Given the description of an element on the screen output the (x, y) to click on. 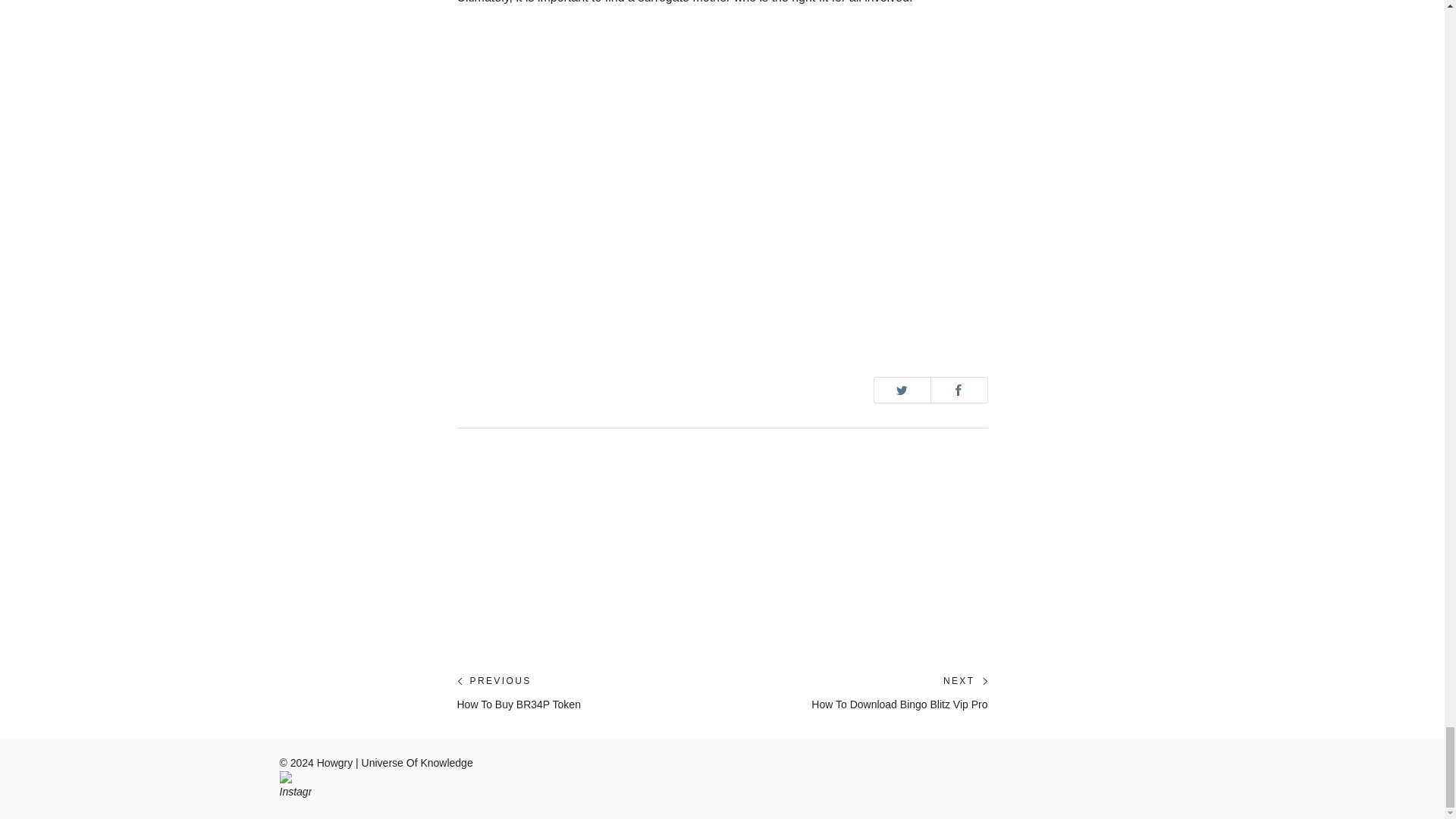
Share on Twitter (518, 692)
Share on Facebook (901, 389)
